Given the description of an element on the screen output the (x, y) to click on. 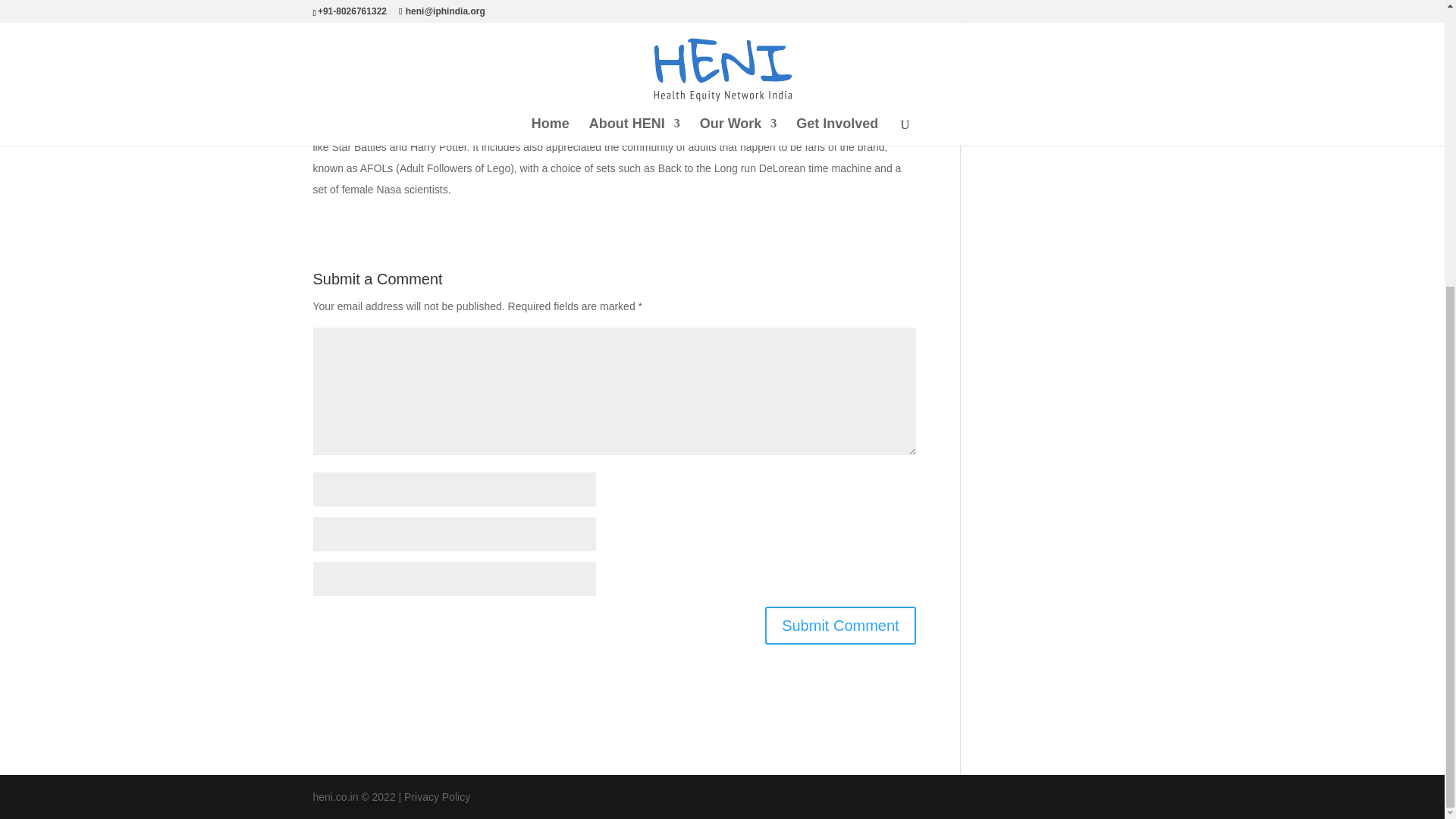
Submit Comment (840, 625)
Recent updates (1021, 115)
Submit Comment (840, 625)
Further Readings (1024, 15)
General Discussion (1029, 41)
